Given the description of an element on the screen output the (x, y) to click on. 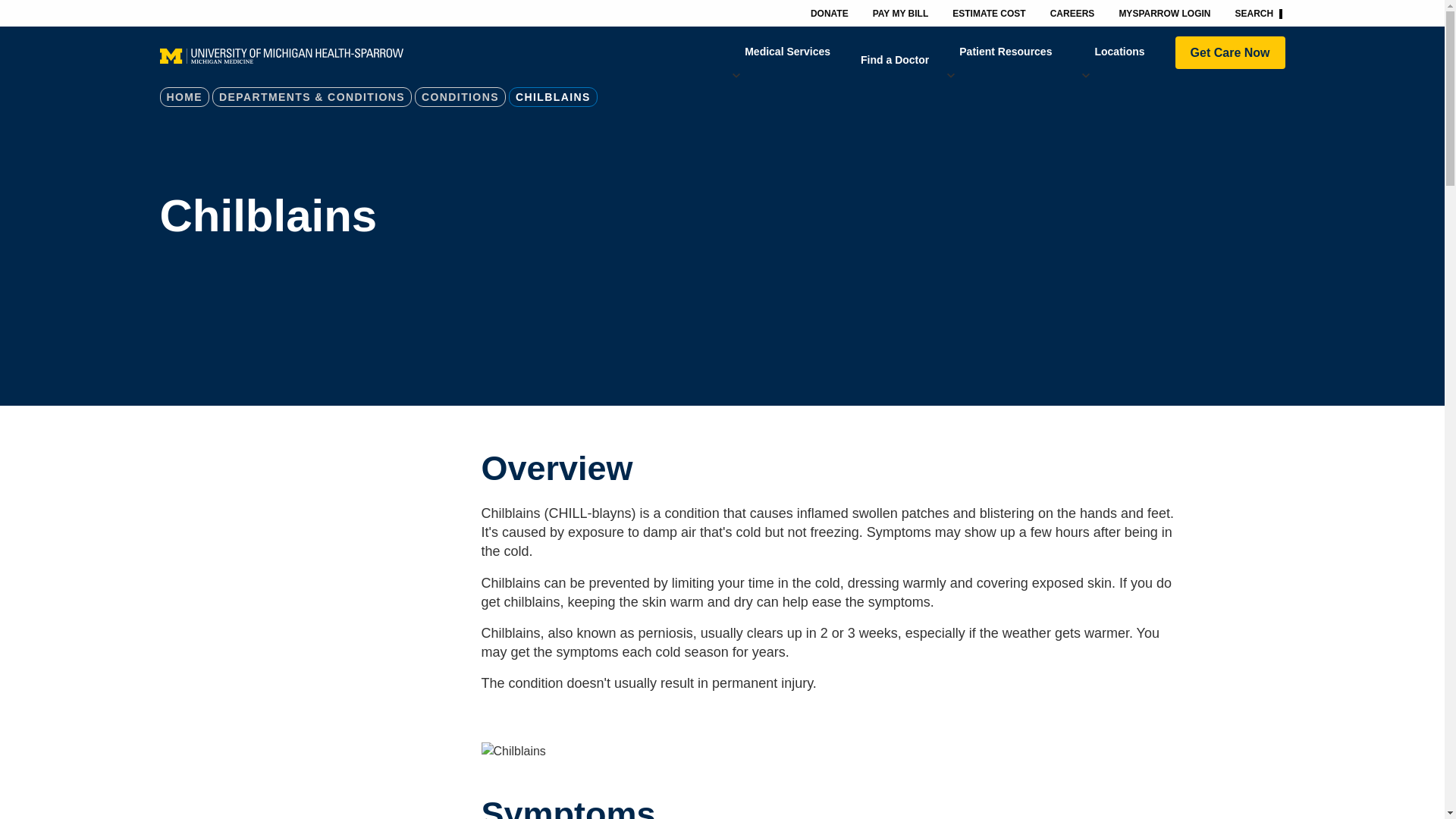
MYSPARROW LOGIN (1164, 12)
DONATE (828, 12)
Locations (1118, 51)
Price Estimator  (988, 12)
PAY MY BILL (900, 12)
Medical Services (787, 51)
SEARCH (1258, 13)
Patient Resources (1005, 51)
CAREERS (1072, 12)
